Given the description of an element on the screen output the (x, y) to click on. 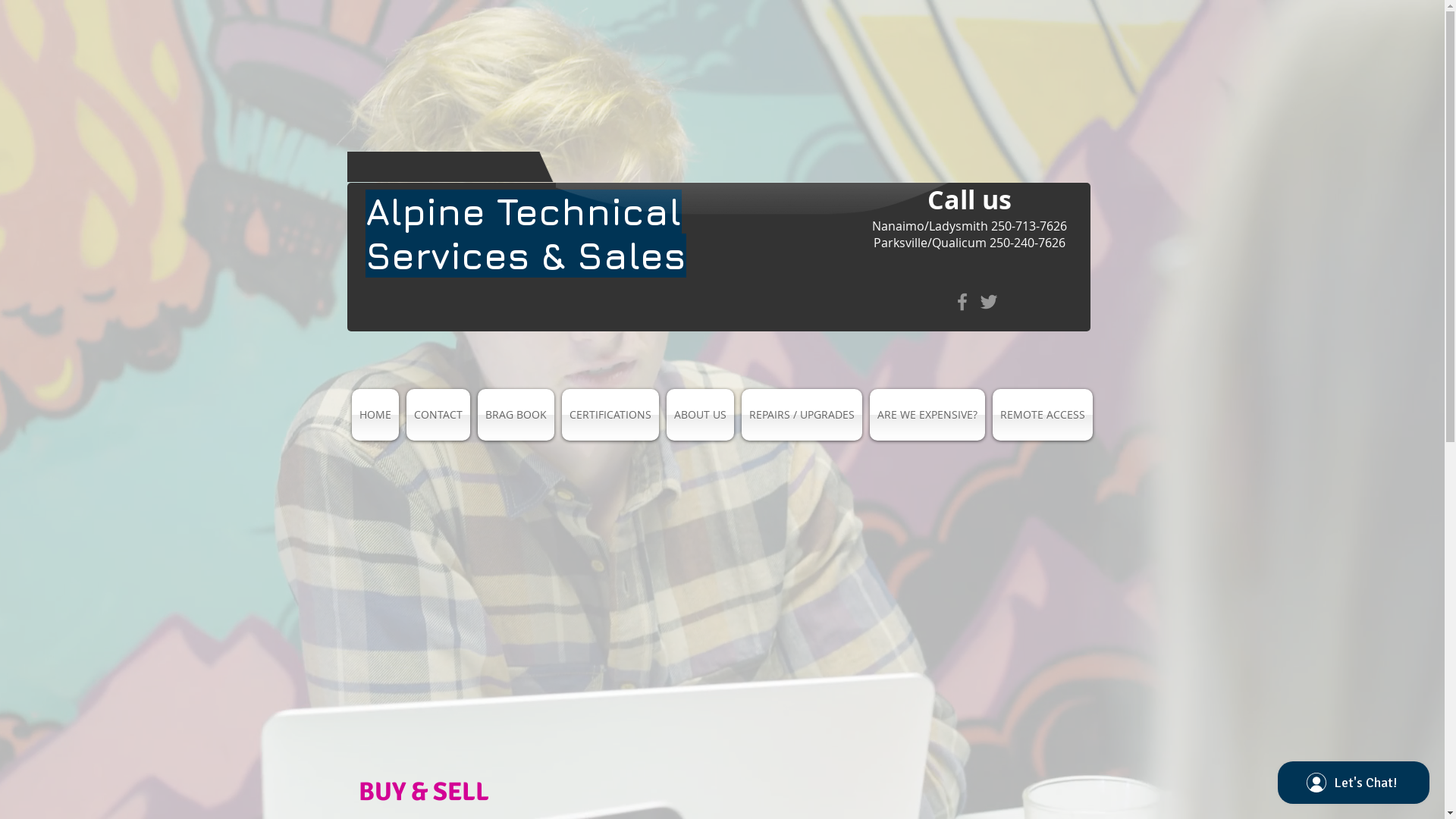
BRAG BOOK Element type: text (515, 414)
CERTIFICATIONS Element type: text (610, 414)
REPAIRS / UPGRADES Element type: text (801, 414)
REMOTE ACCESS Element type: text (1042, 414)
ABOUT US Element type: text (699, 414)
HOME Element type: text (375, 414)
CONTACT Element type: text (437, 414)
ARE WE EXPENSIVE? Element type: text (927, 414)
